Given the description of an element on the screen output the (x, y) to click on. 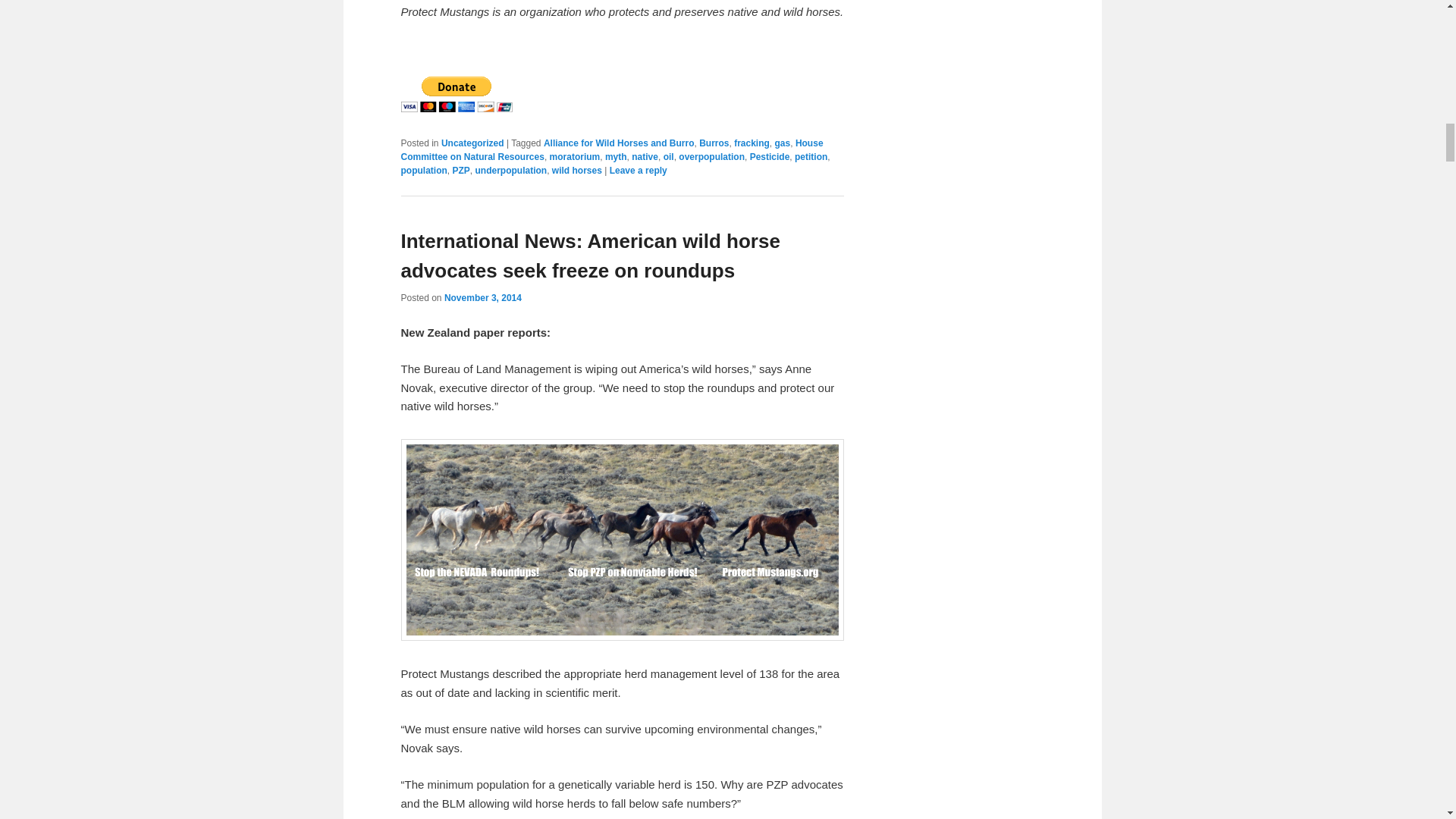
Burros (713, 143)
5:56 pm (482, 297)
Alliance for Wild Horses and Burro (618, 143)
Uncategorized (472, 143)
fracking (751, 143)
